Given the description of an element on the screen output the (x, y) to click on. 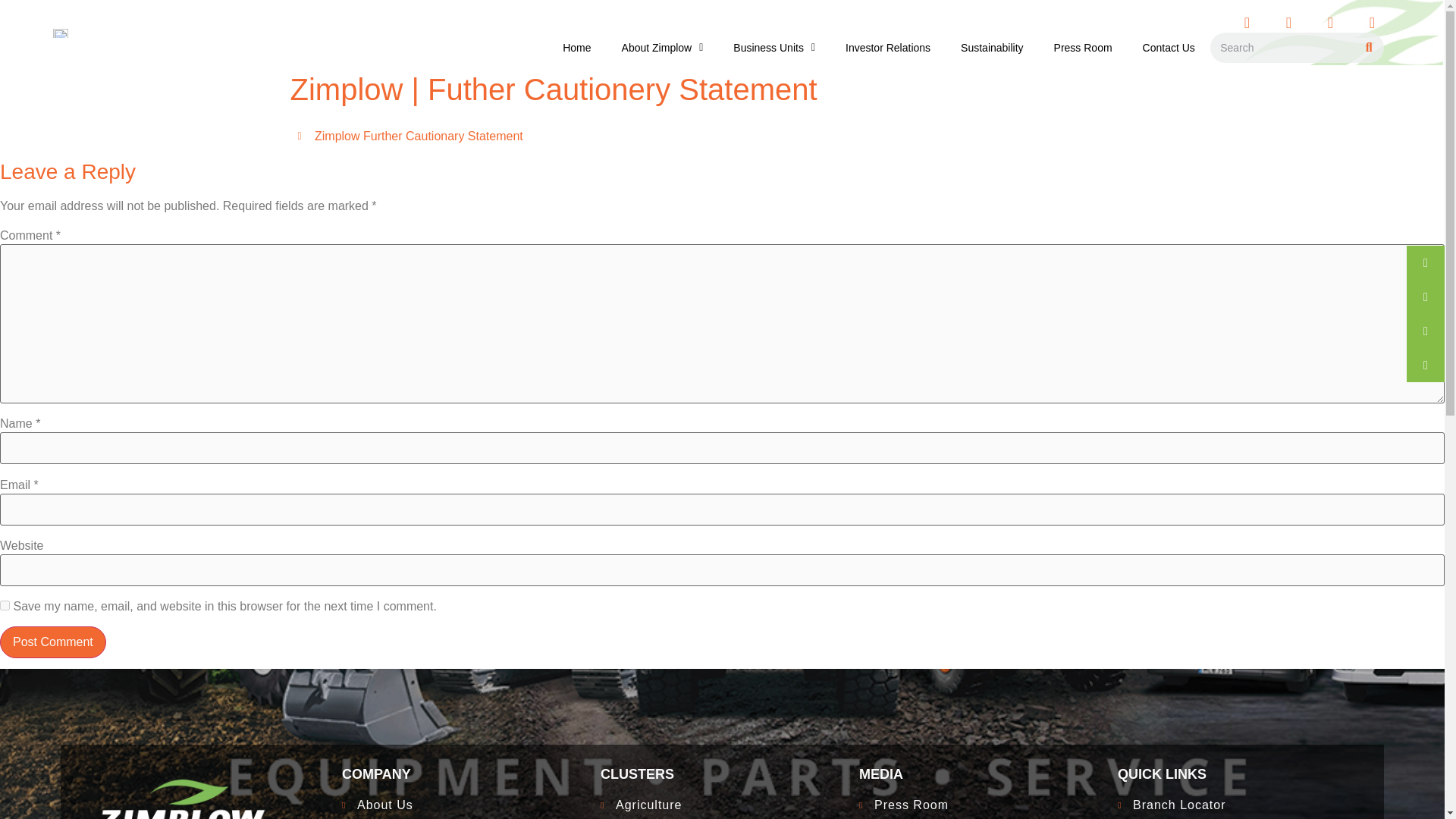
CLUSTERS (1239, 807)
COMPANY (721, 774)
About Zimplow (463, 774)
Sustainability (663, 47)
Zimplow Further Cautionary Statement (991, 47)
Investor Relations (722, 136)
QUICK LINKS (463, 807)
MEDIA (886, 47)
Business Units (1239, 774)
Contact Us (980, 774)
Home (773, 47)
